Given the description of an element on the screen output the (x, y) to click on. 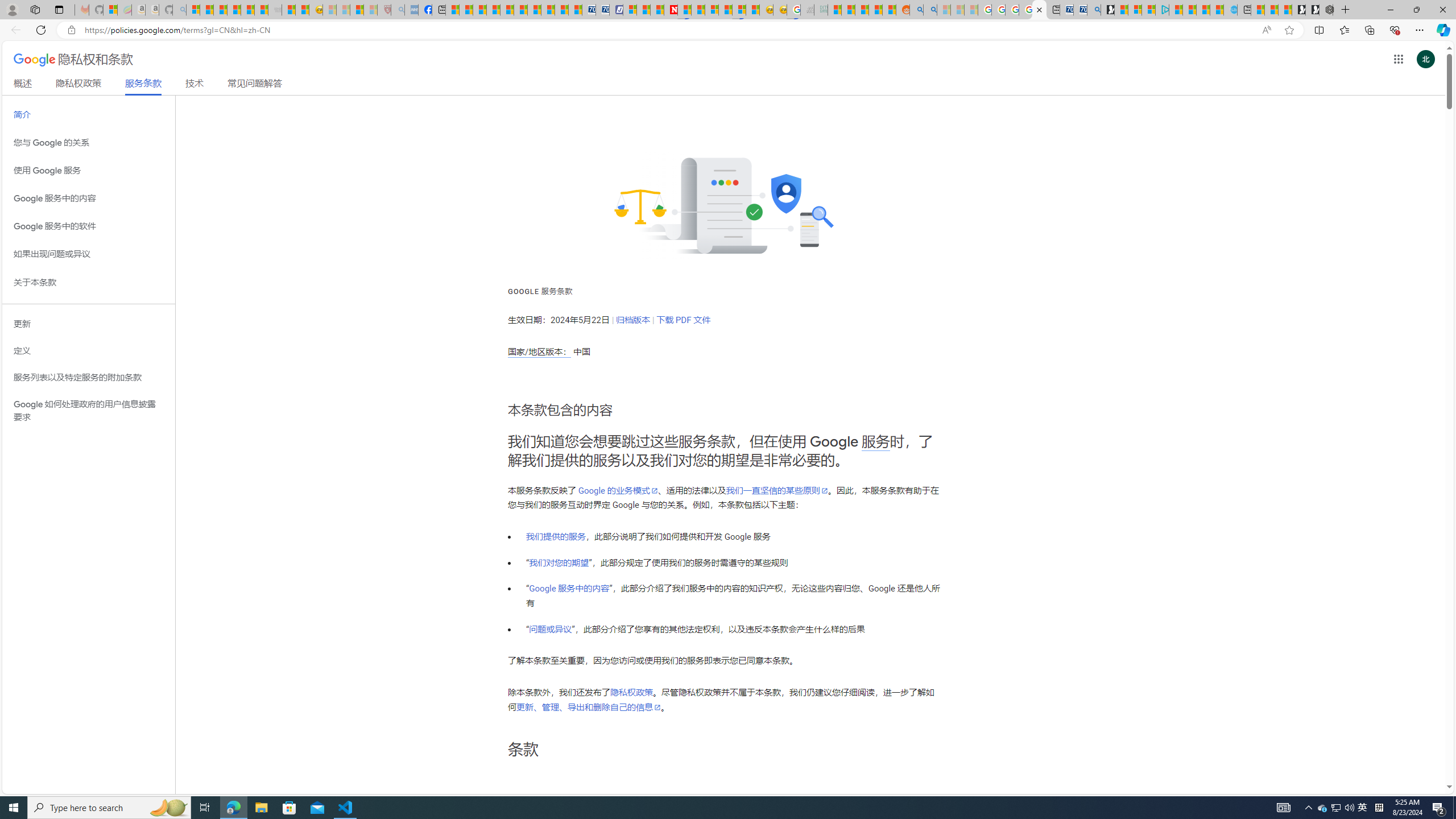
World - MSN (479, 9)
Cheap Hotels - Save70.com (602, 9)
